Given the description of an element on the screen output the (x, y) to click on. 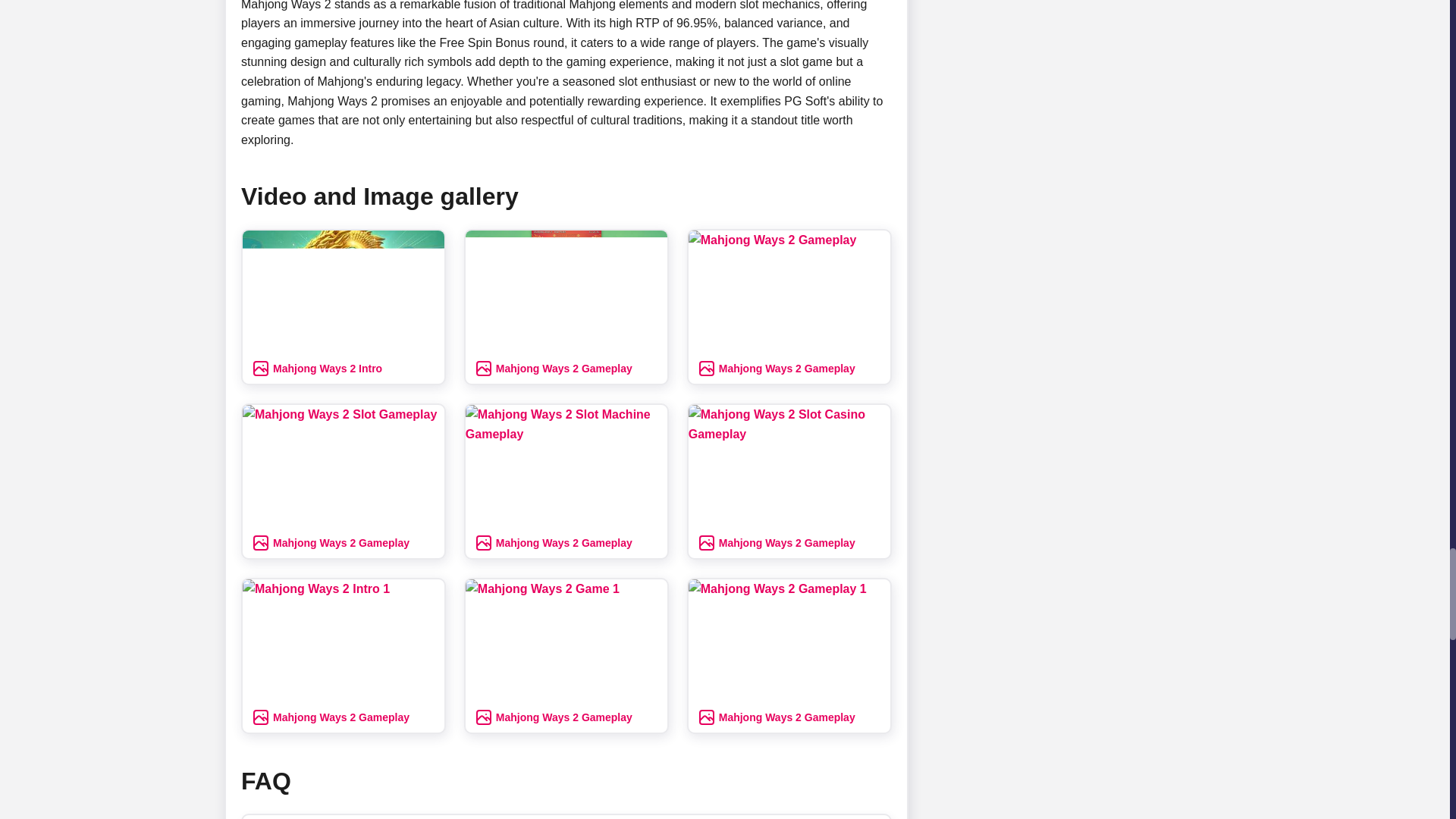
Mahjong Ways 2 Game (565, 291)
Mahjong Ways 2 Intro 1 (343, 640)
Mahjong Ways 2 Intro (343, 291)
Mahjong Ways 2 Slot Casino Gameplay (788, 465)
Mahjong Ways 2 Slot Gameplay (343, 465)
Mahjong Ways 2 Slot Machine Gameplay (565, 465)
Mahjong Ways 2 Gameplay (788, 291)
Mahjong Ways 2 Game 1 (565, 640)
Mahjong Ways 2 Gameplay 1 (788, 640)
